Given the description of an element on the screen output the (x, y) to click on. 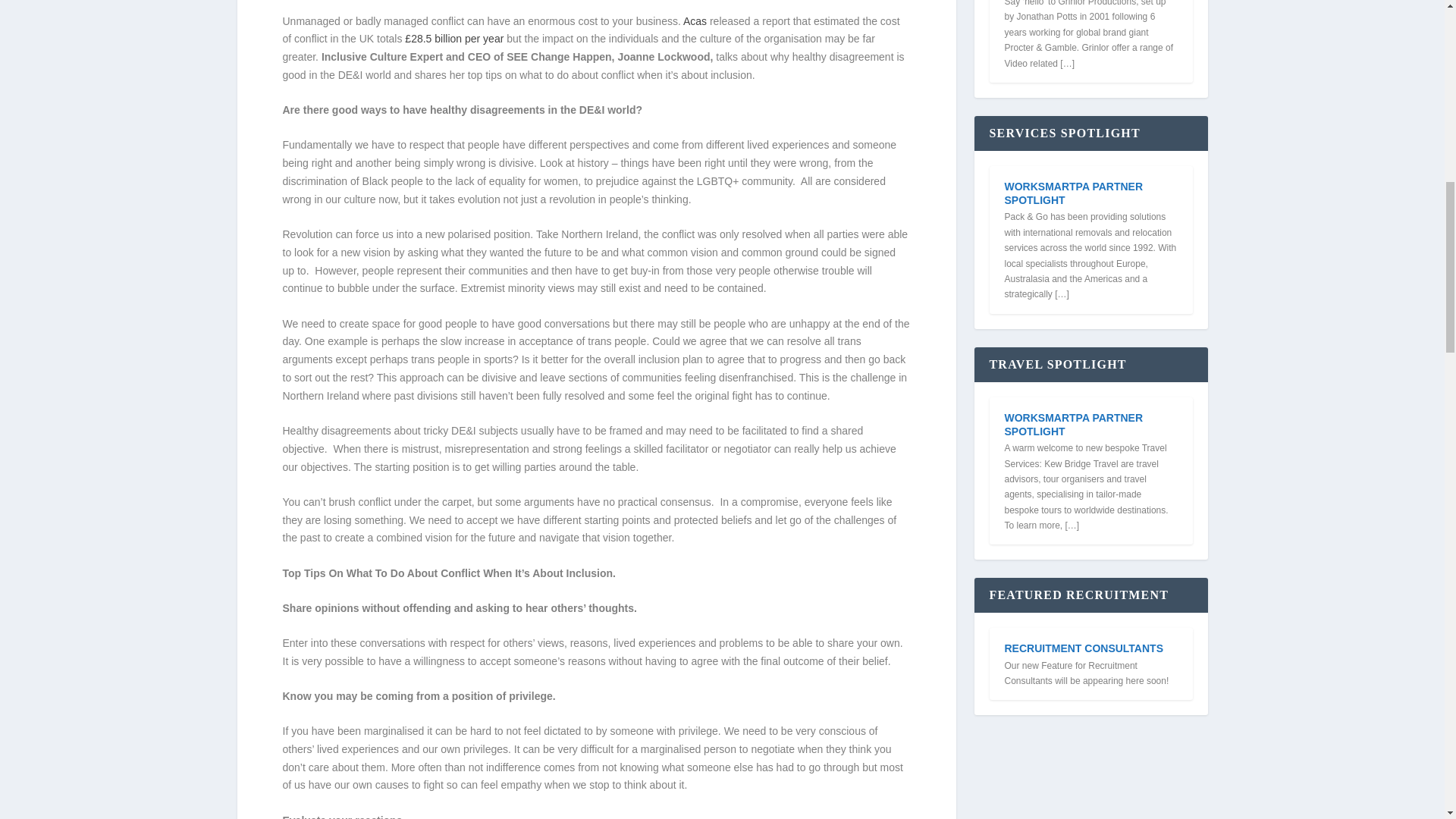
Acas (694, 21)
